Given the description of an element on the screen output the (x, y) to click on. 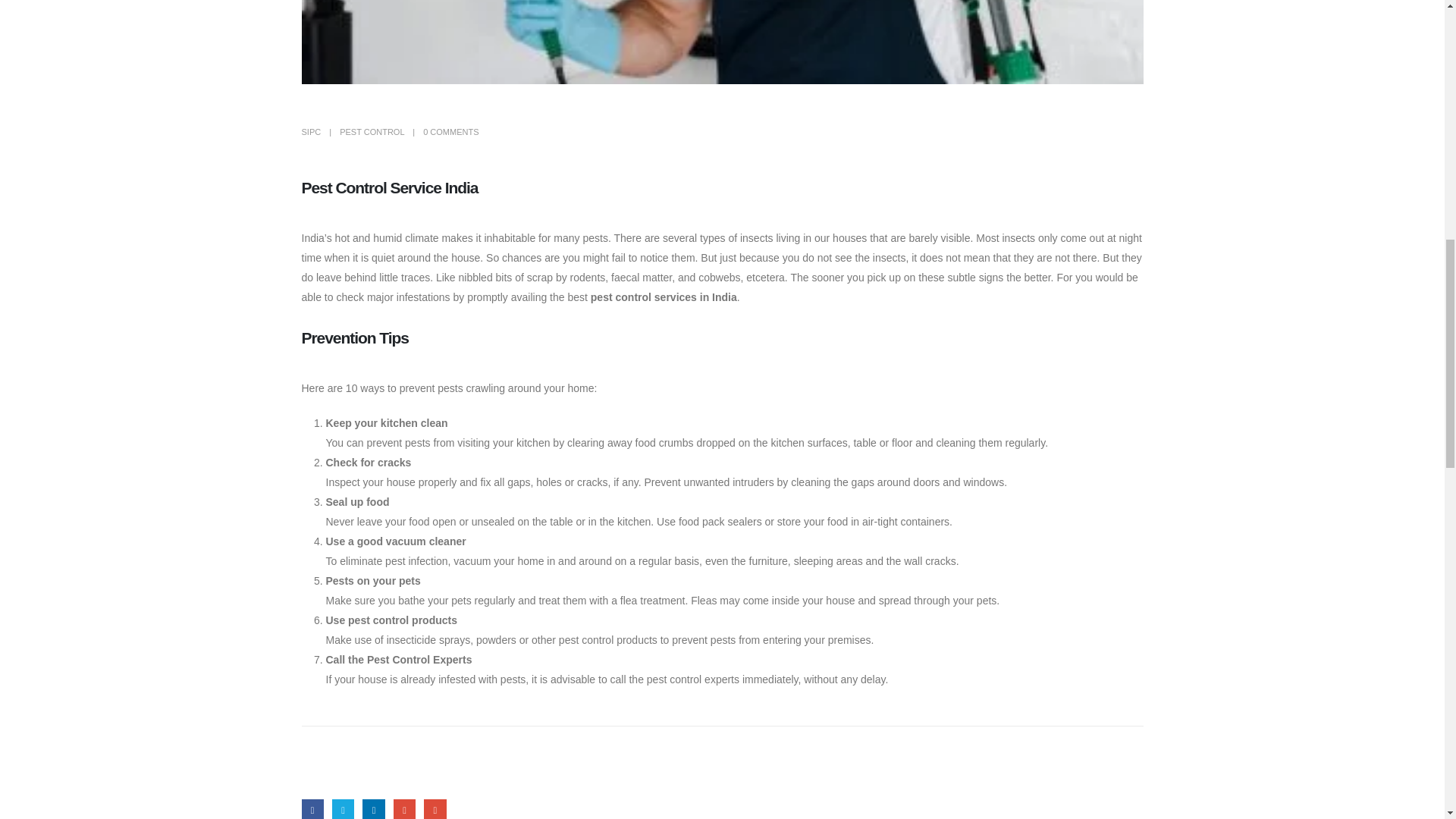
Posts by SIPC (311, 131)
0 COMMENTS (451, 131)
